Given the description of an element on the screen output the (x, y) to click on. 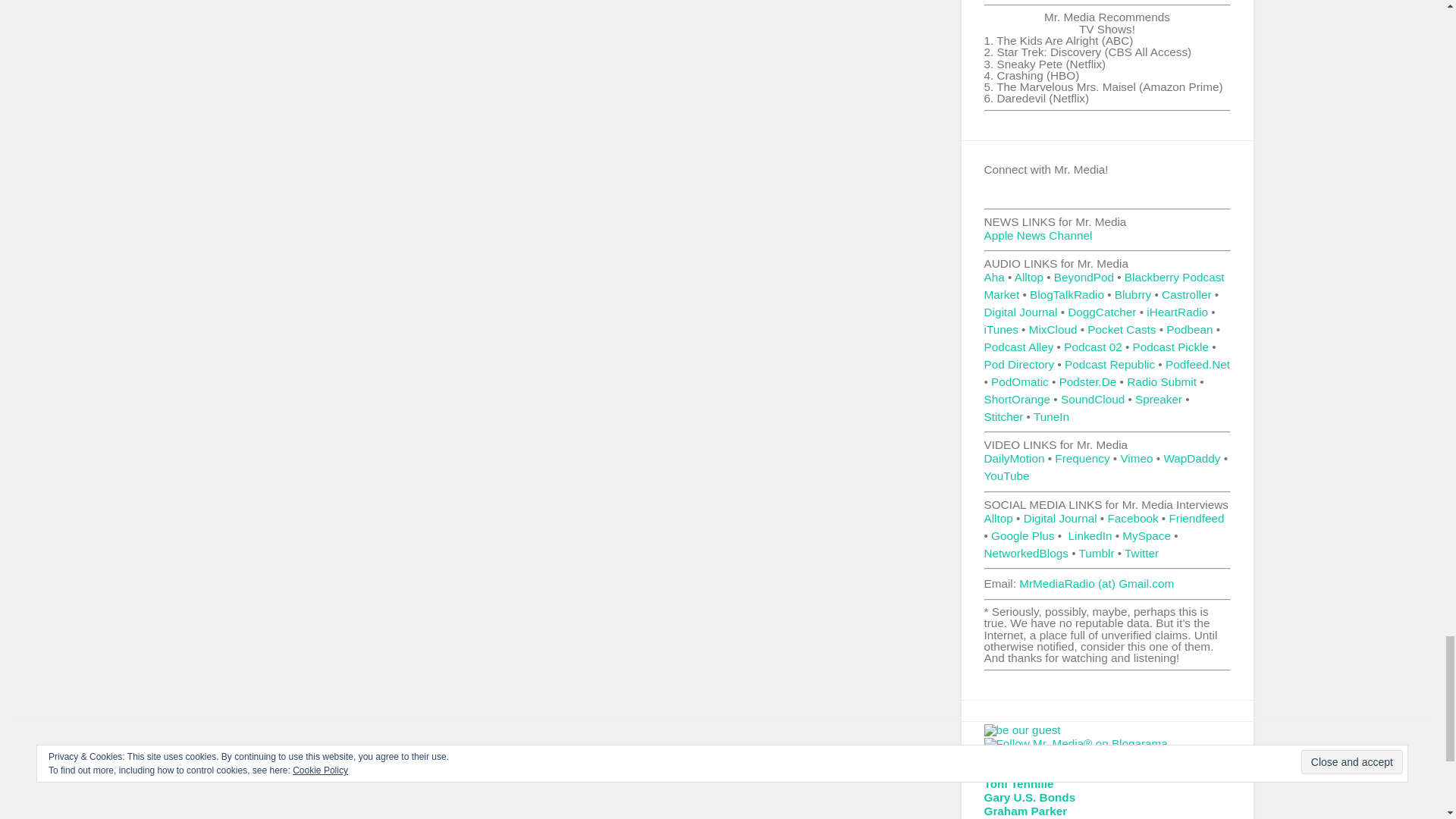
Podcast Republic (1109, 364)
Pocket Casts Mr. Media (1121, 328)
Shortorange.com (1017, 399)
DoggCatcher (1101, 311)
Mr. Media on Stitcher (1003, 416)
Mr. Media on SoundCloud (1092, 399)
Mr. Media on Spreaker (1158, 399)
Mr. Media on iHeartRadio (1177, 311)
BeyondPod (1083, 277)
Mr. Media on TuneIn (1050, 416)
